Given the description of an element on the screen output the (x, y) to click on. 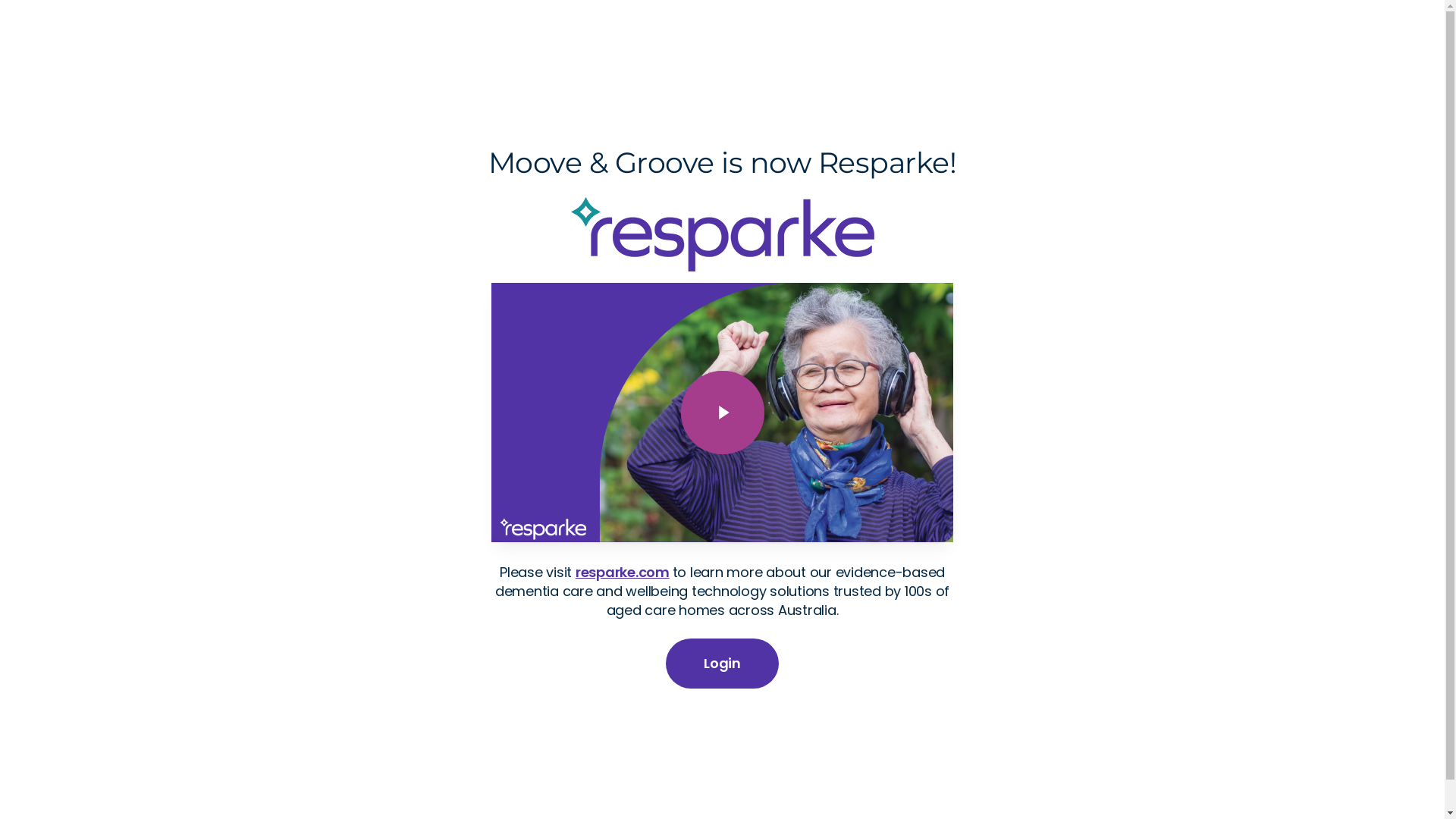
Login Element type: text (721, 663)
resparke.com Element type: text (622, 571)
